Given the description of an element on the screen output the (x, y) to click on. 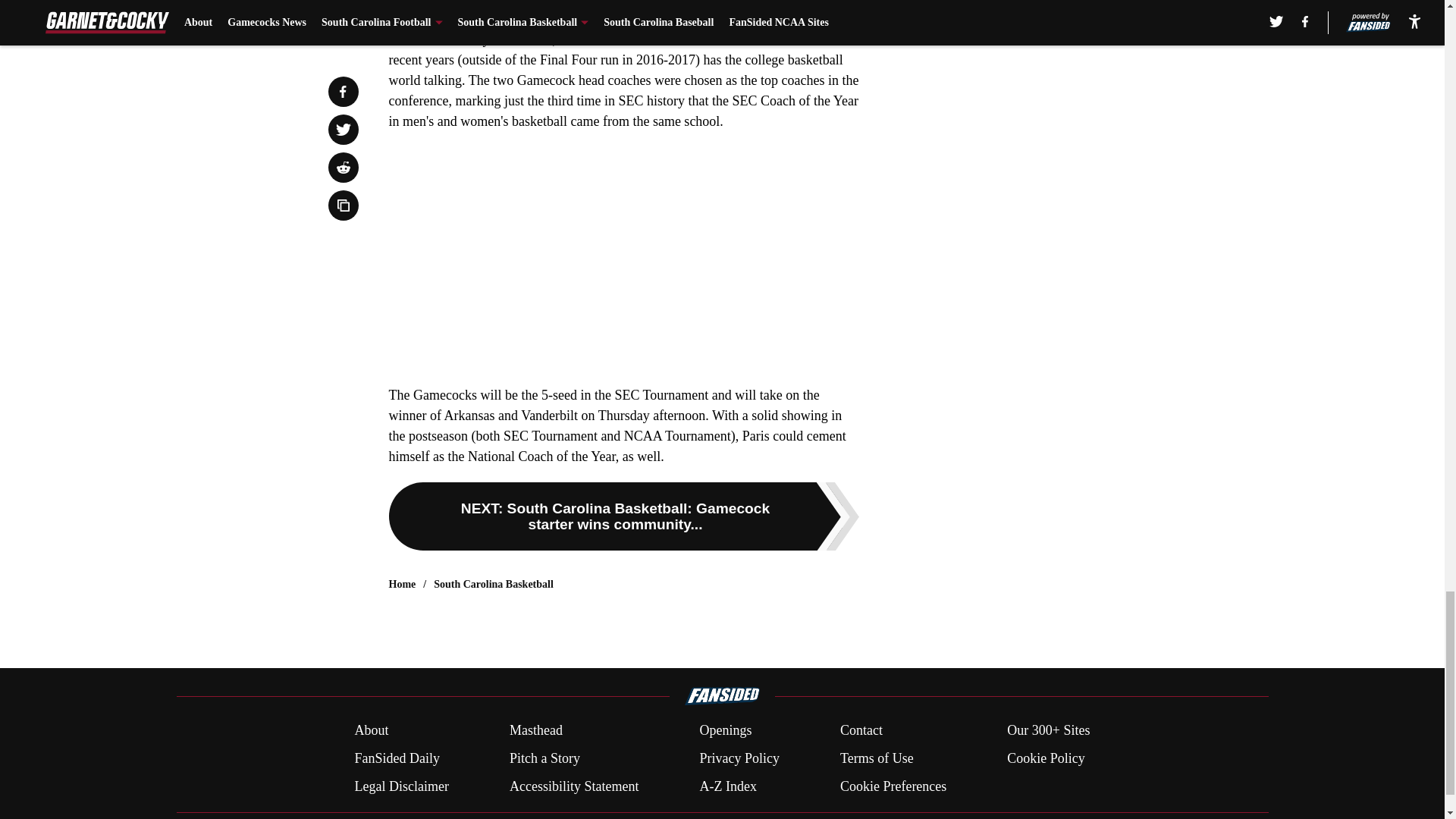
Openings (724, 730)
South Carolina Basketball (493, 584)
About (370, 730)
Masthead (535, 730)
Home (401, 584)
Paris' success (596, 38)
Terms of Use (877, 758)
Contact (861, 730)
Privacy Policy (738, 758)
Pitch a Story (544, 758)
FanSided Daily (396, 758)
